Given the description of an element on the screen output the (x, y) to click on. 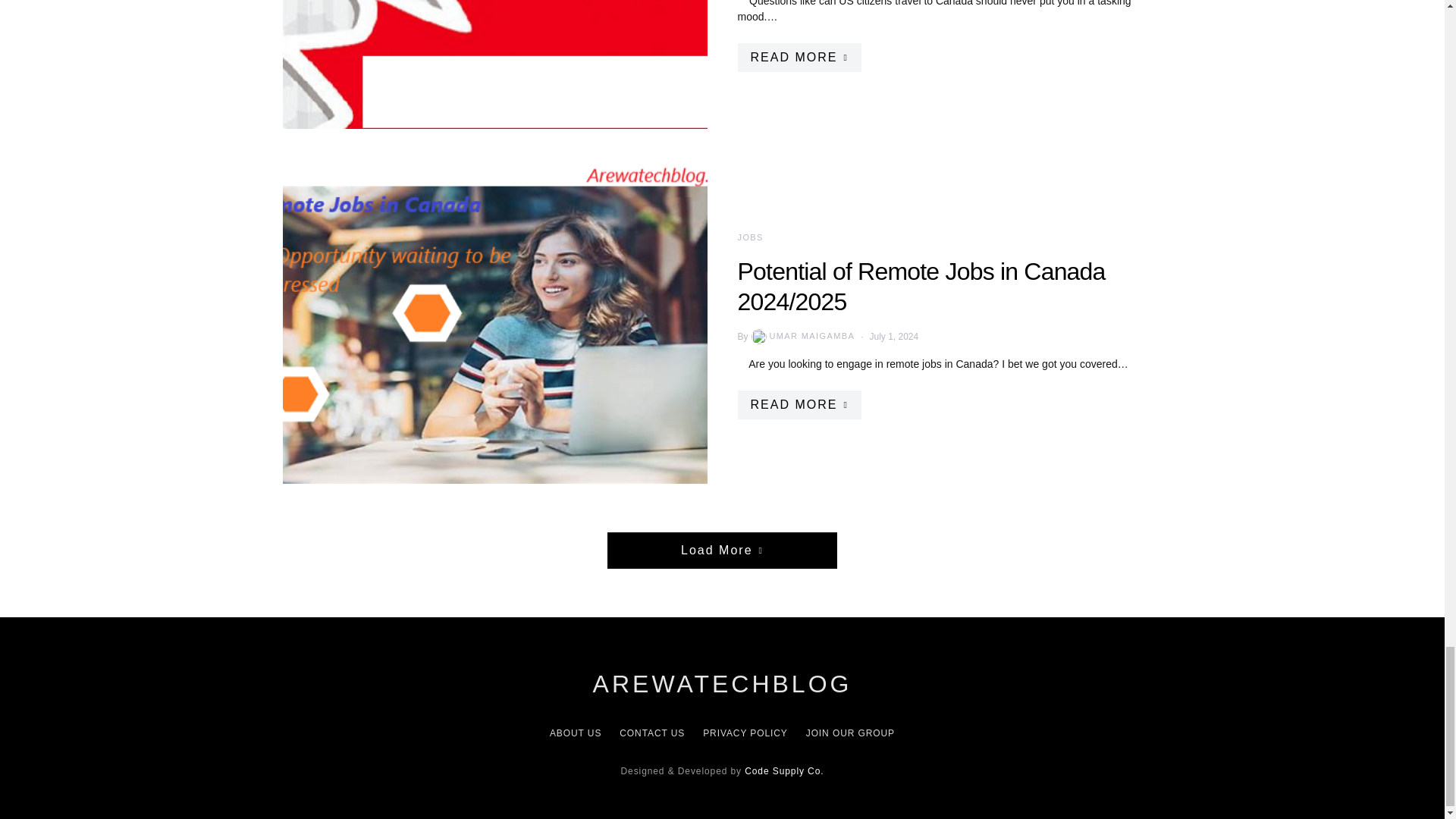
View all posts by Umar Maigamba (802, 336)
